Given the description of an element on the screen output the (x, y) to click on. 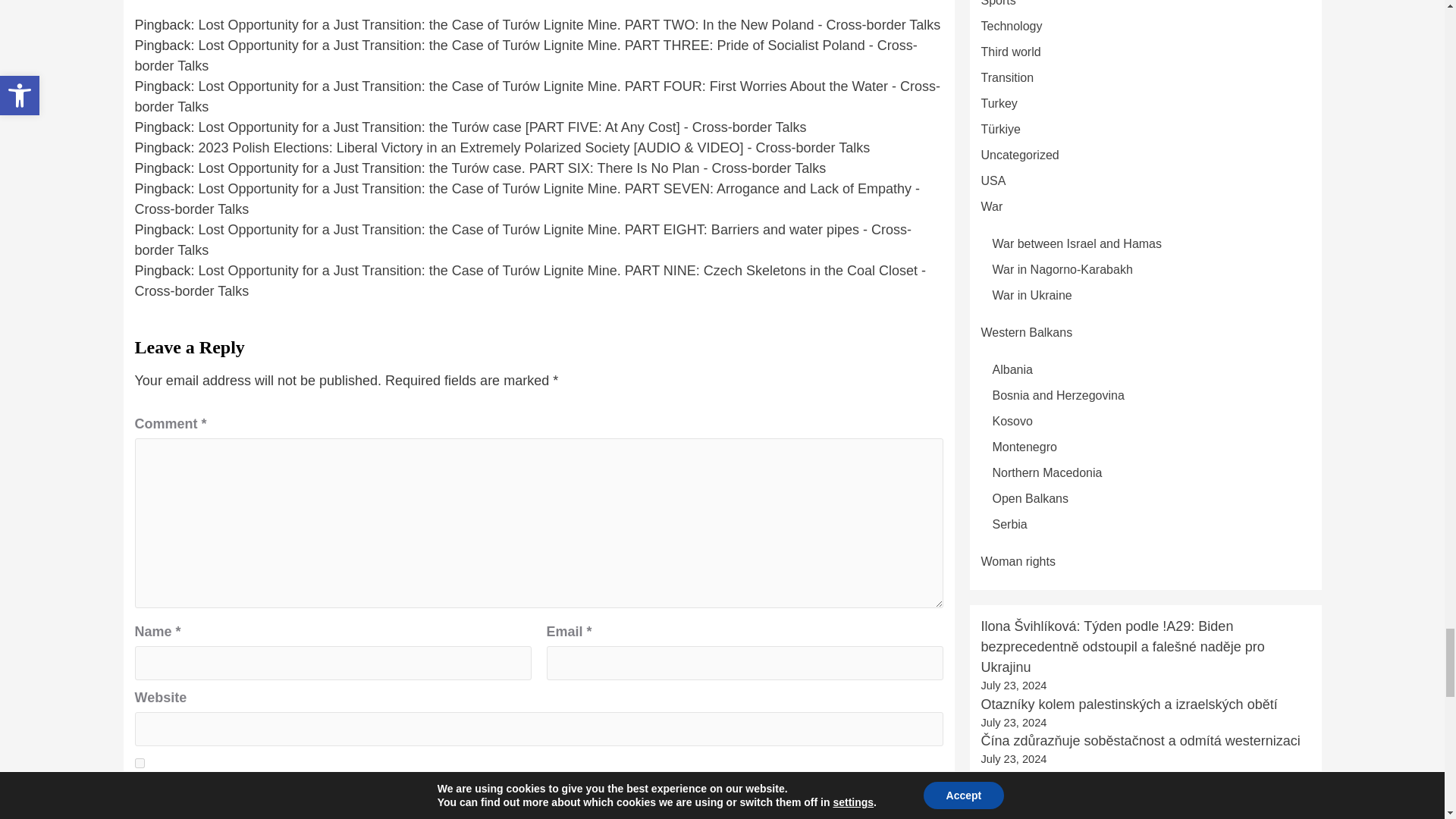
yes (139, 763)
subscribe (139, 811)
